Given the description of an element on the screen output the (x, y) to click on. 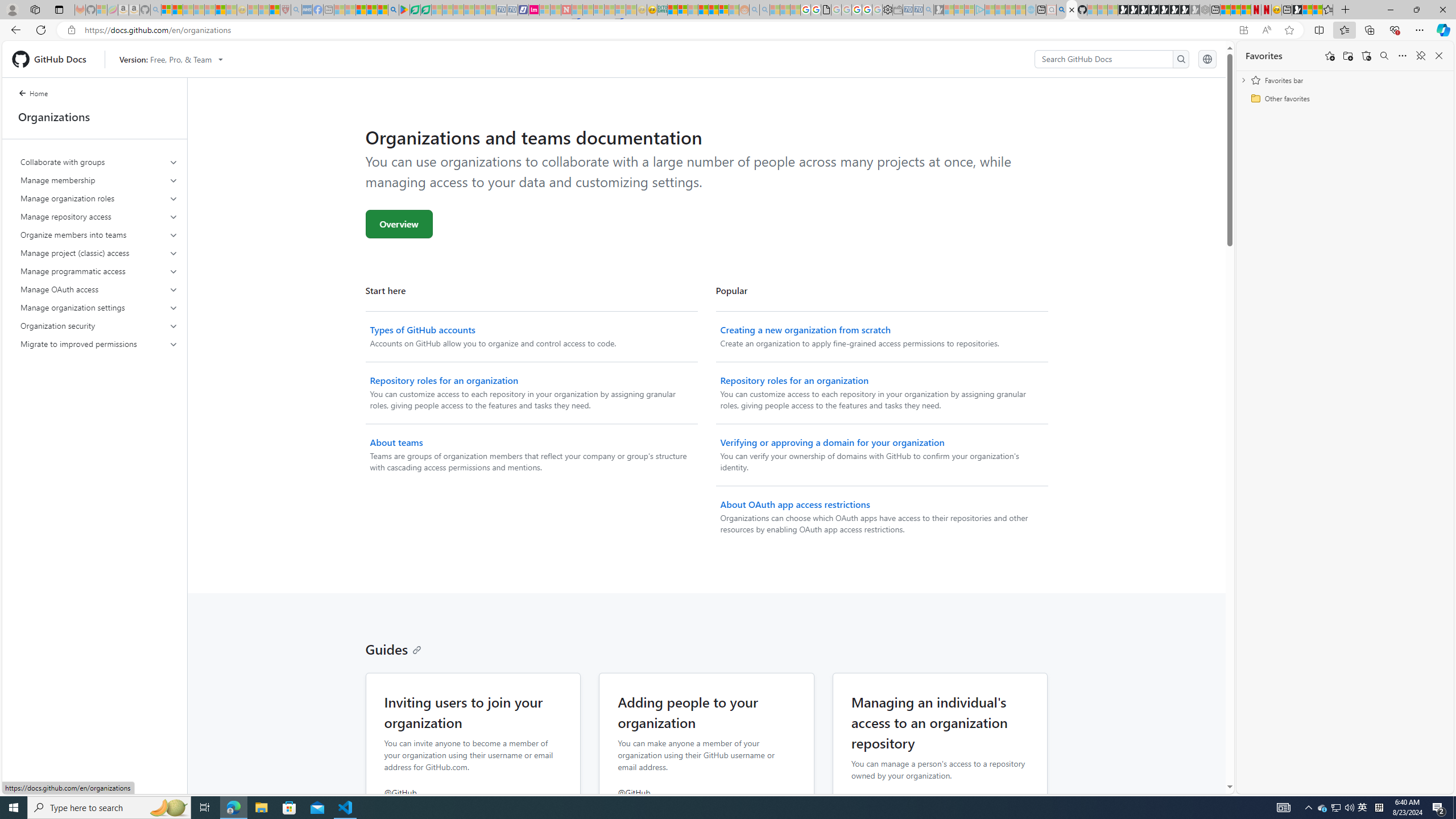
Organization security (99, 325)
Organization security (99, 325)
Terms of Use Agreement (414, 9)
Migrate to improved permissions (99, 343)
GitHub Docs (53, 58)
